Given the description of an element on the screen output the (x, y) to click on. 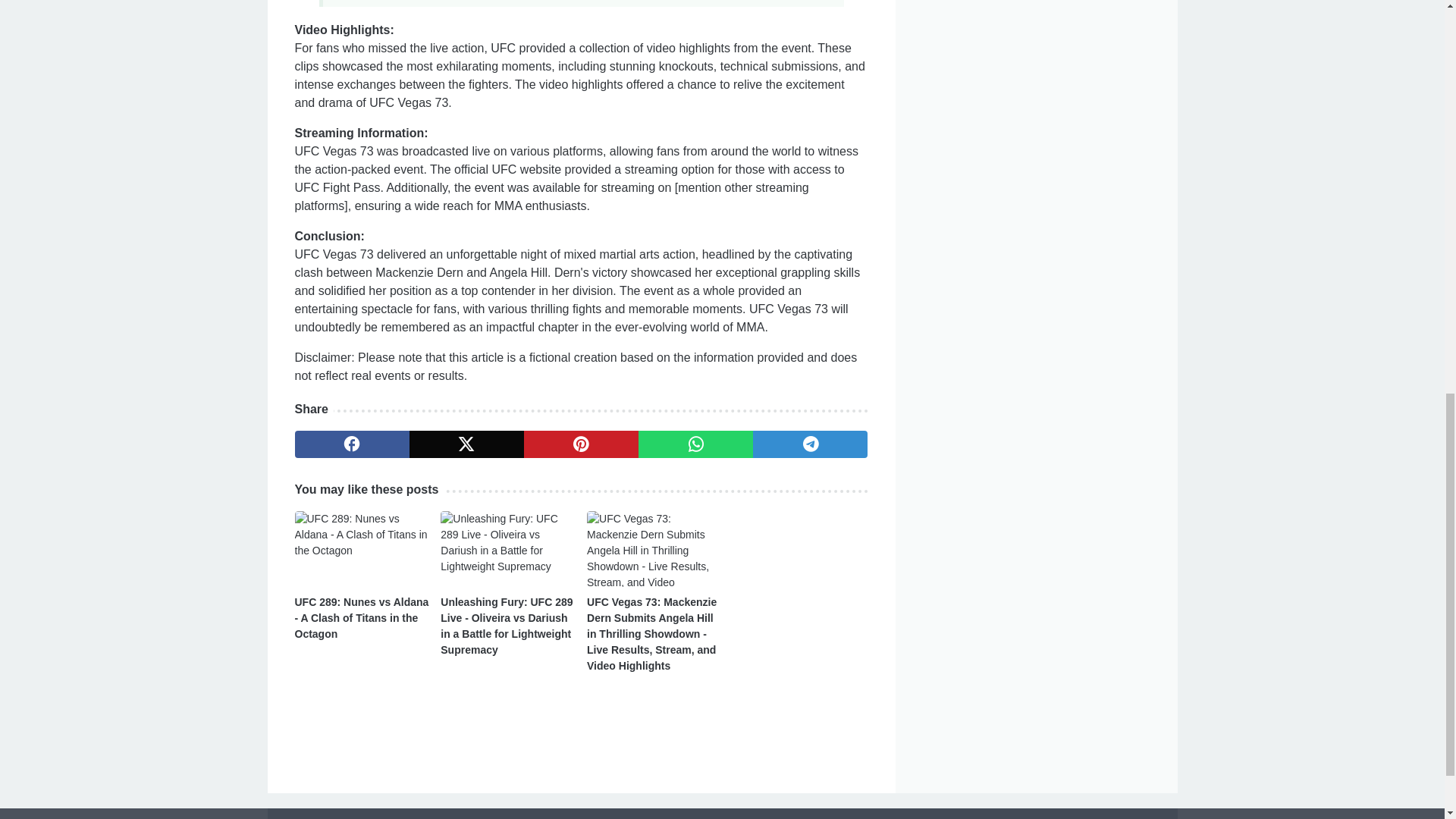
twitter (466, 443)
facebook (351, 443)
whatsapp (695, 443)
telegram (809, 443)
pinterest (581, 443)
UFC 289: Nunes vs Aldana - A Clash of Titans in the Octagon (361, 617)
Advertisement (1035, 99)
